Given the description of an element on the screen output the (x, y) to click on. 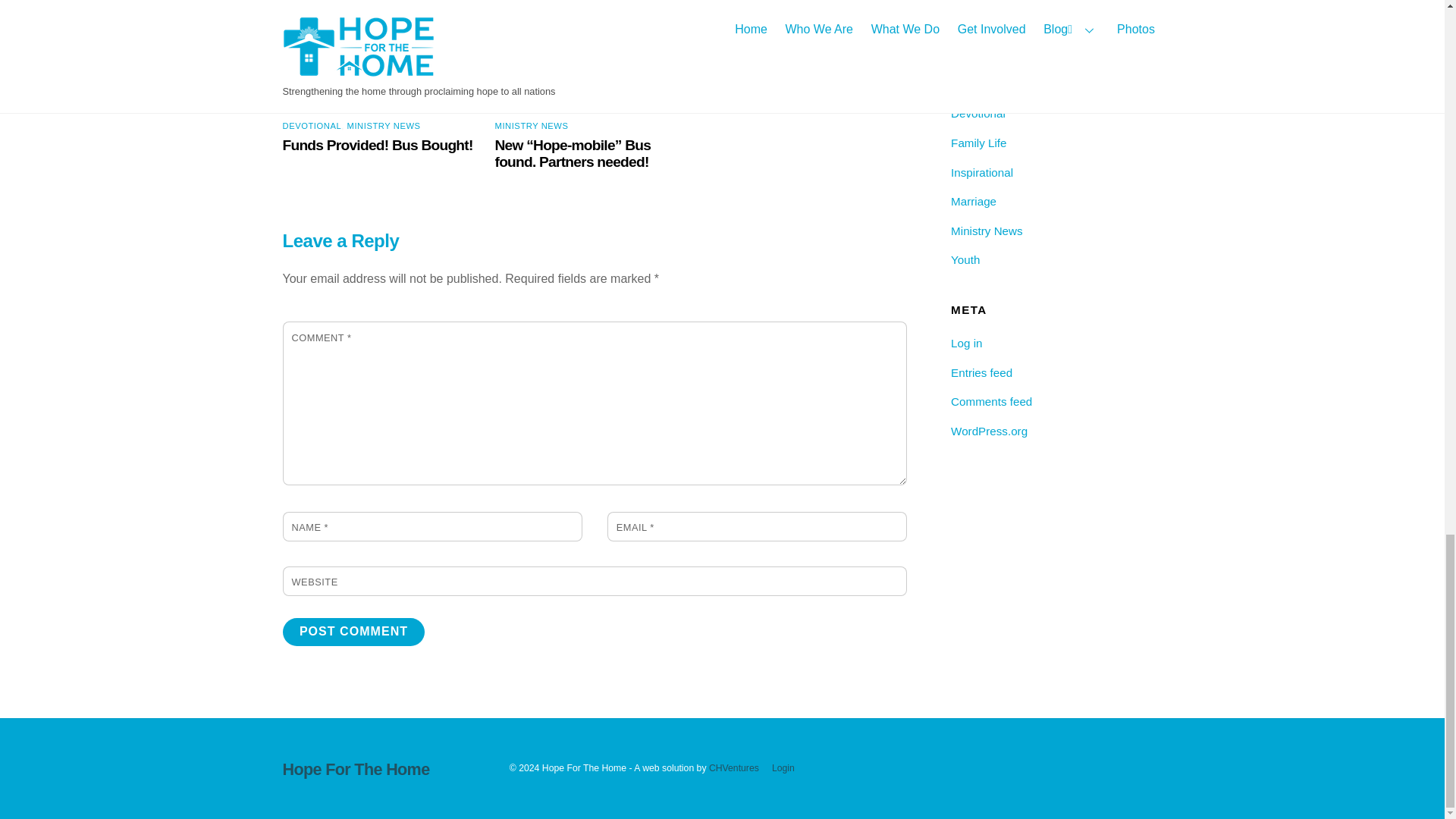
MINISTRY NEWS (532, 125)
Funds Provided! Bus Bought! (376, 145)
Spring Newsletter 2024 (780, 2)
MINISTRY NEWS (383, 125)
Post Comment (353, 632)
DEVOTIONAL (311, 125)
Hope For The Home (355, 769)
Cornish Heritage Ventures (733, 767)
Post Comment (353, 632)
Hope-mobile option (595, 54)
